Given the description of an element on the screen output the (x, y) to click on. 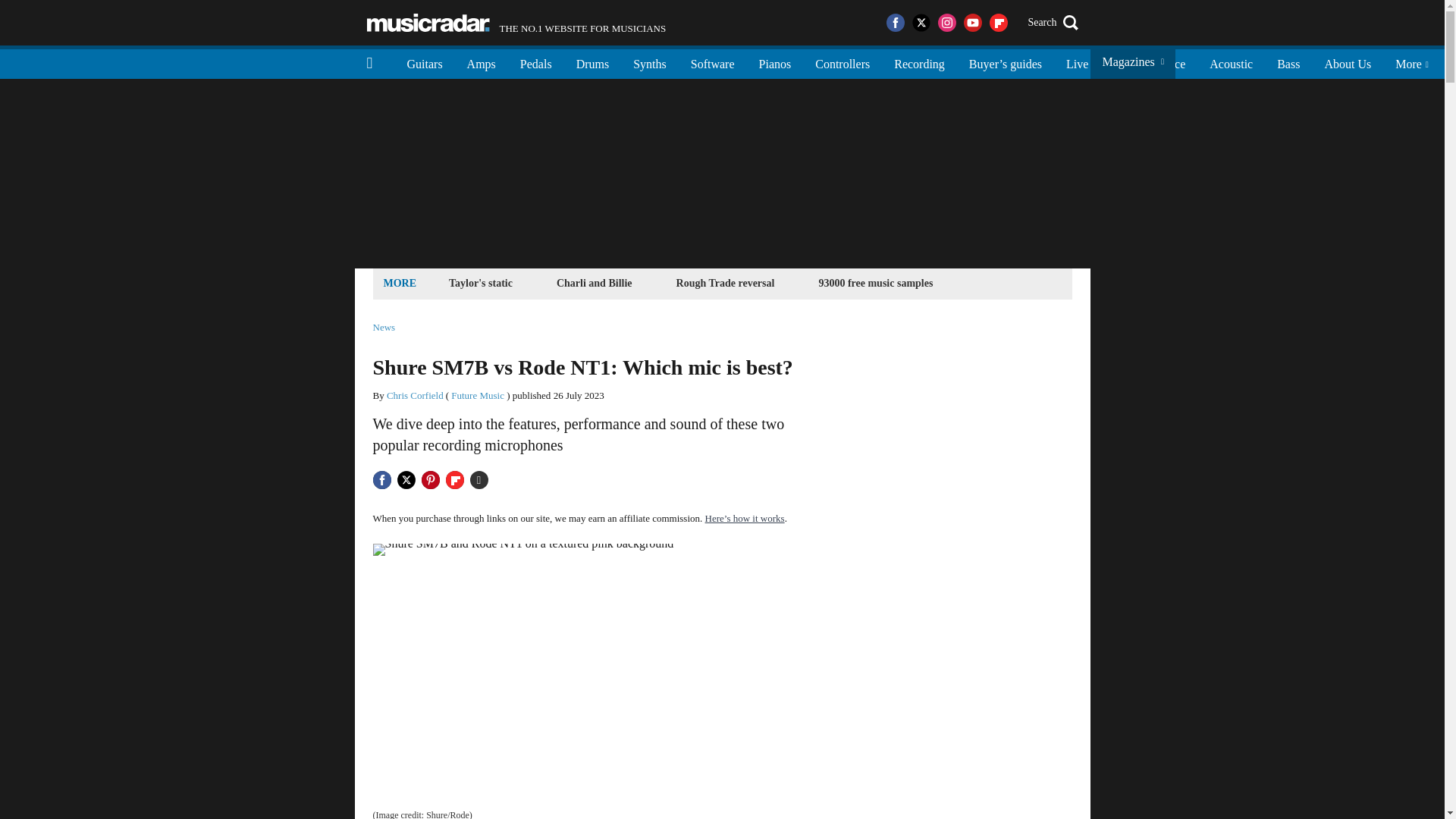
Acoustic (1230, 61)
93000 free music samples (874, 282)
Advice (1167, 61)
Music Radar (427, 22)
Drums (592, 61)
Guitars (424, 61)
Rough Trade reversal (725, 282)
About Us (1347, 61)
Chris Corfield (415, 395)
DJ (1119, 61)
